Given the description of an element on the screen output the (x, y) to click on. 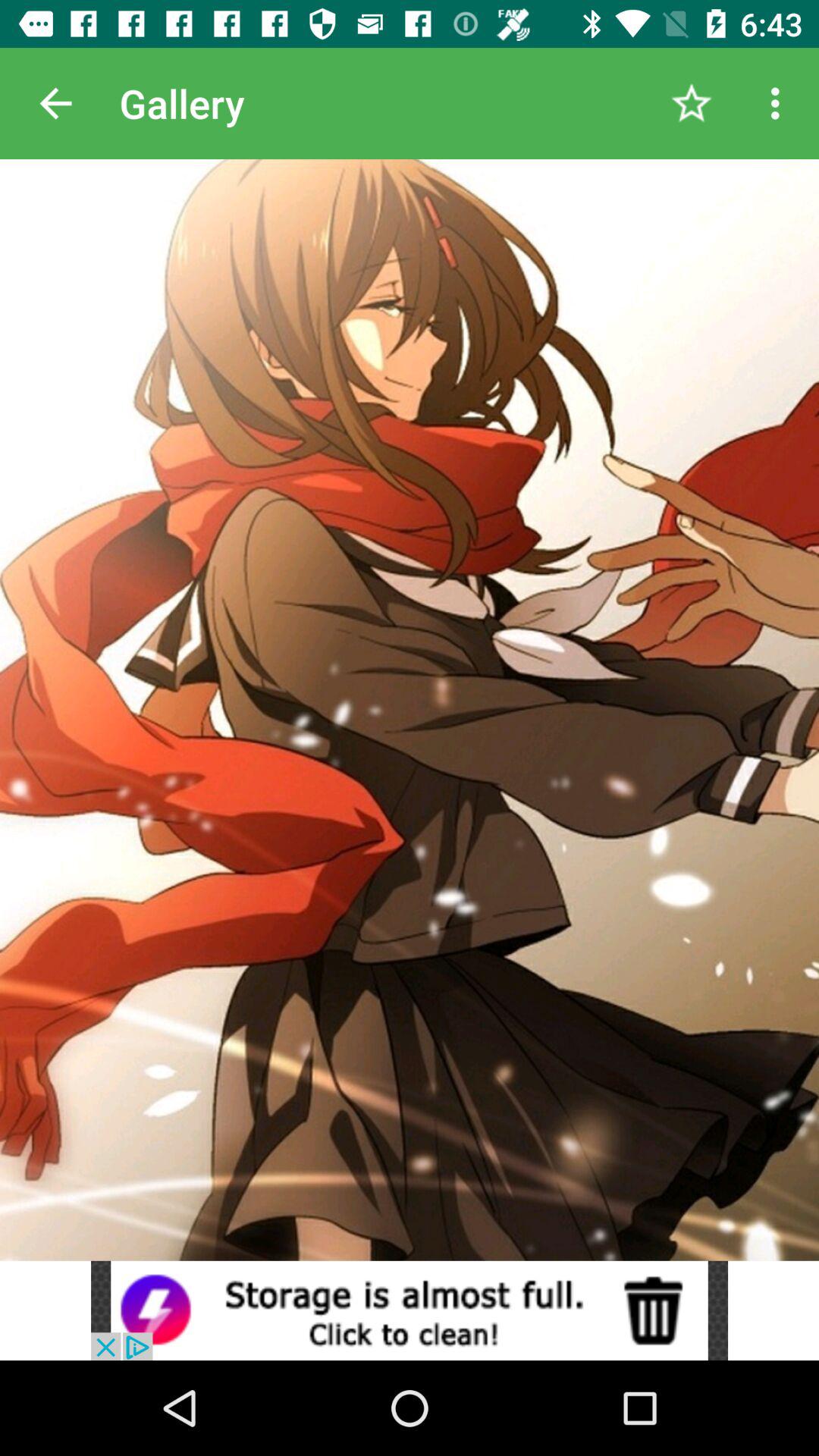
this is an advertisement (409, 1310)
